Given the description of an element on the screen output the (x, y) to click on. 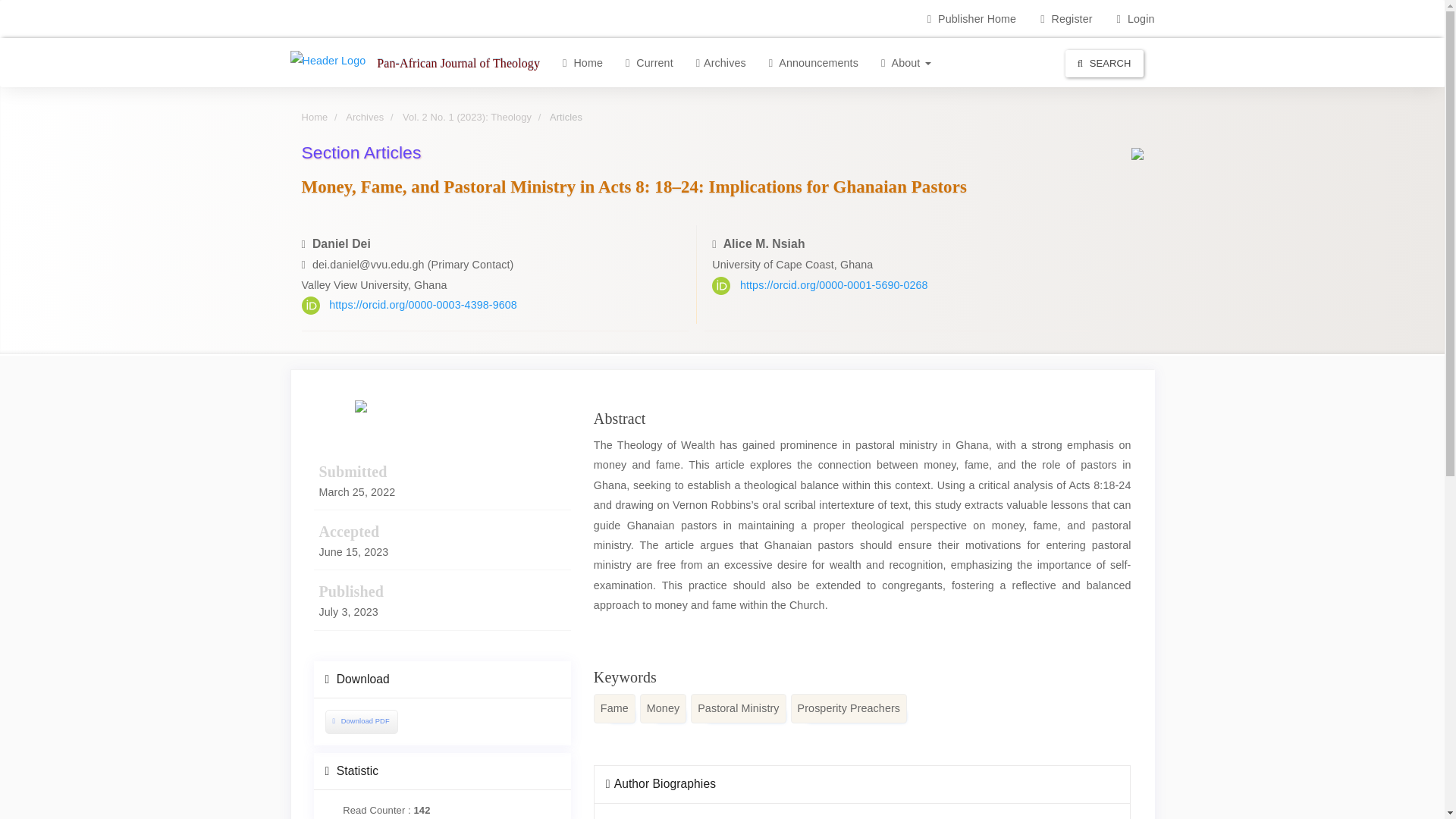
Publisher Home (971, 18)
Login (1135, 18)
Current (649, 62)
Announcements (813, 62)
Archives (720, 62)
Pan-African Journal of Theology (458, 62)
Home (582, 62)
About (905, 62)
SEARCH (1103, 62)
Register (1066, 18)
